Given the description of an element on the screen output the (x, y) to click on. 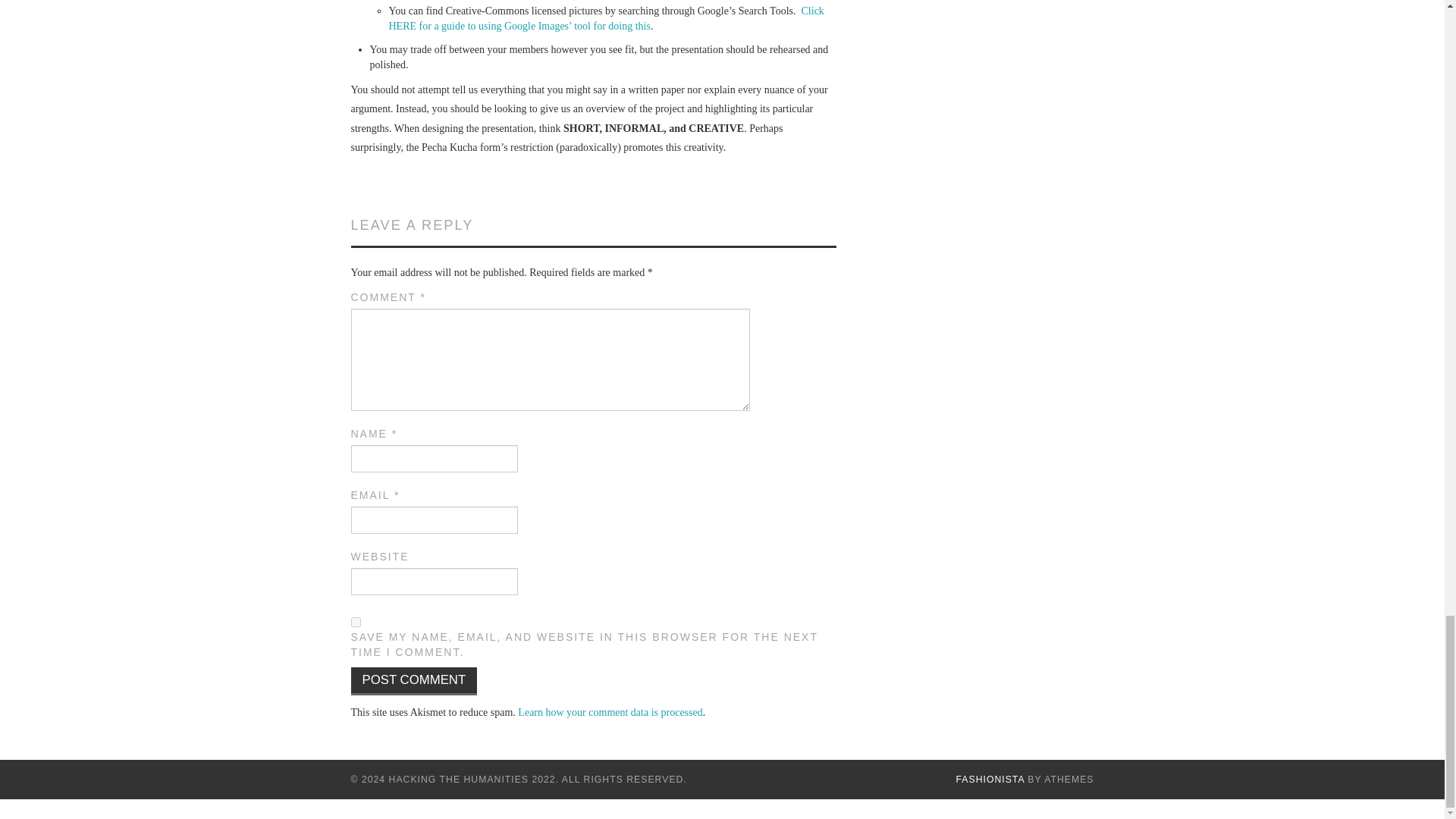
Post Comment (413, 681)
yes (354, 622)
